Given the description of an element on the screen output the (x, y) to click on. 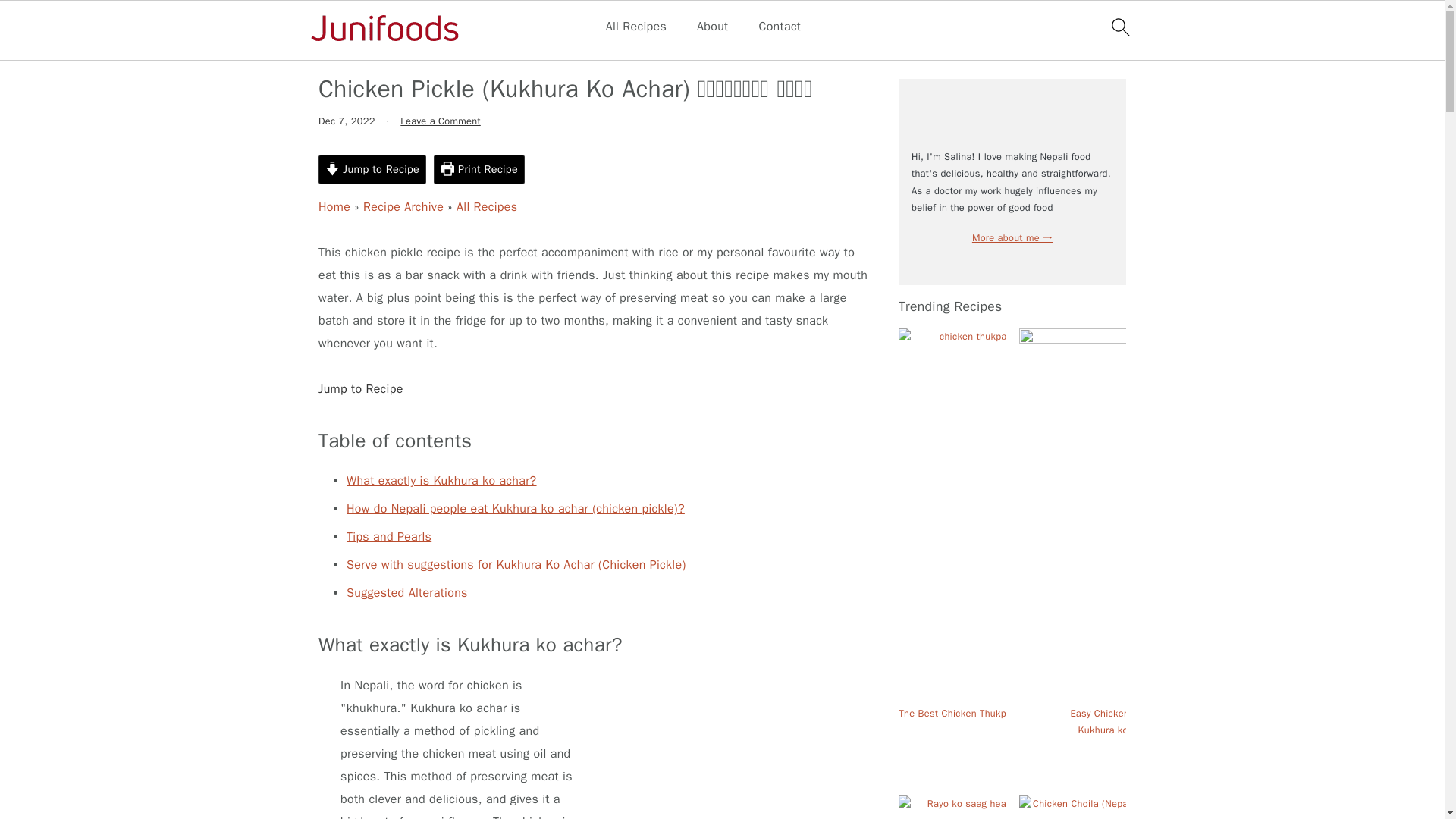
Print Recipe (478, 169)
Recipe Archive (403, 50)
Leave a Comment (440, 121)
Home (334, 50)
About (712, 26)
Recipe Archive (403, 206)
Home (334, 206)
Jump to Recipe (372, 169)
Contact (779, 26)
All Recipes (486, 50)
search icon (1119, 26)
All Recipes (635, 26)
